Given the description of an element on the screen output the (x, y) to click on. 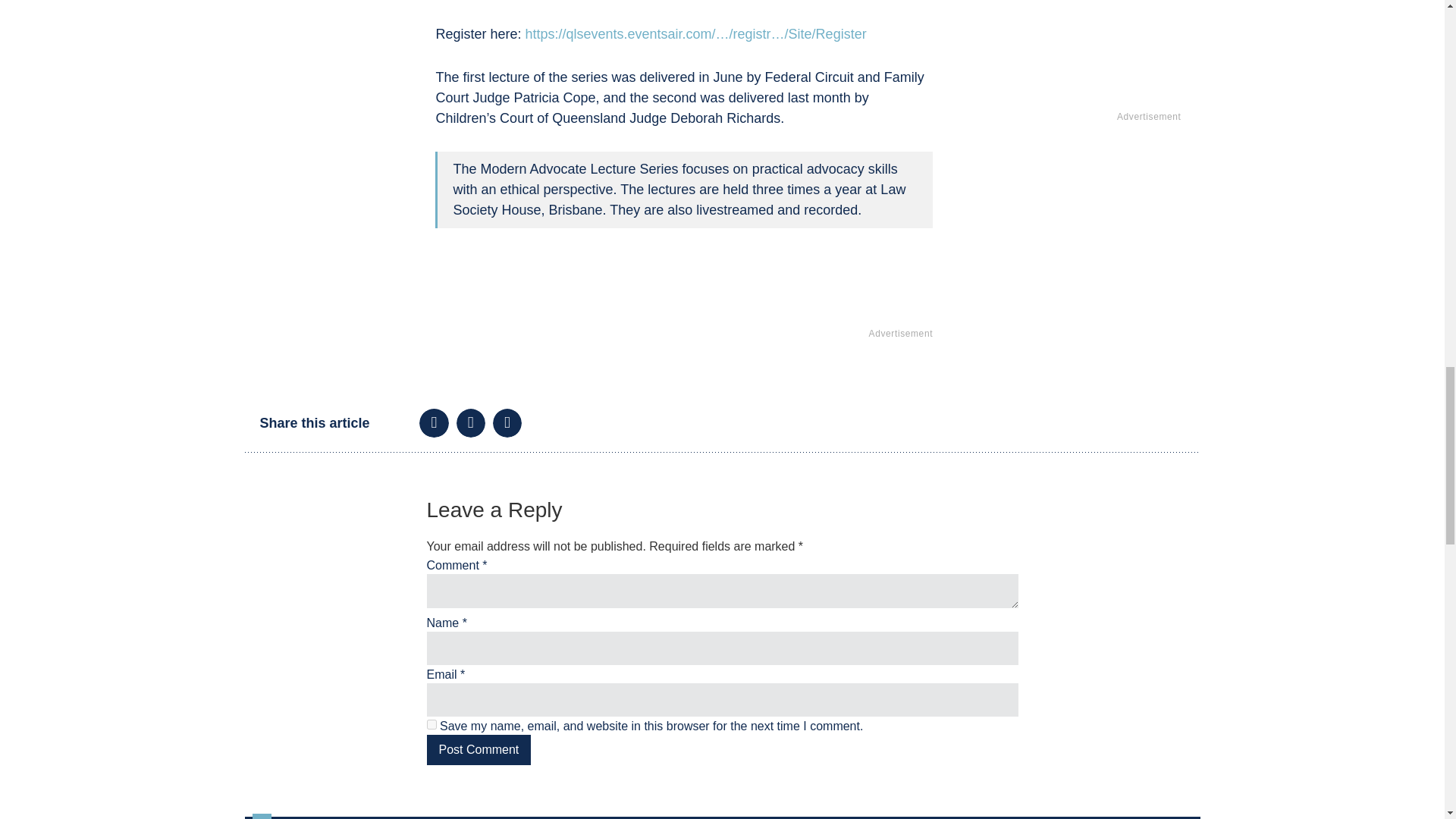
Post Comment (478, 749)
yes (430, 724)
